Given the description of an element on the screen output the (x, y) to click on. 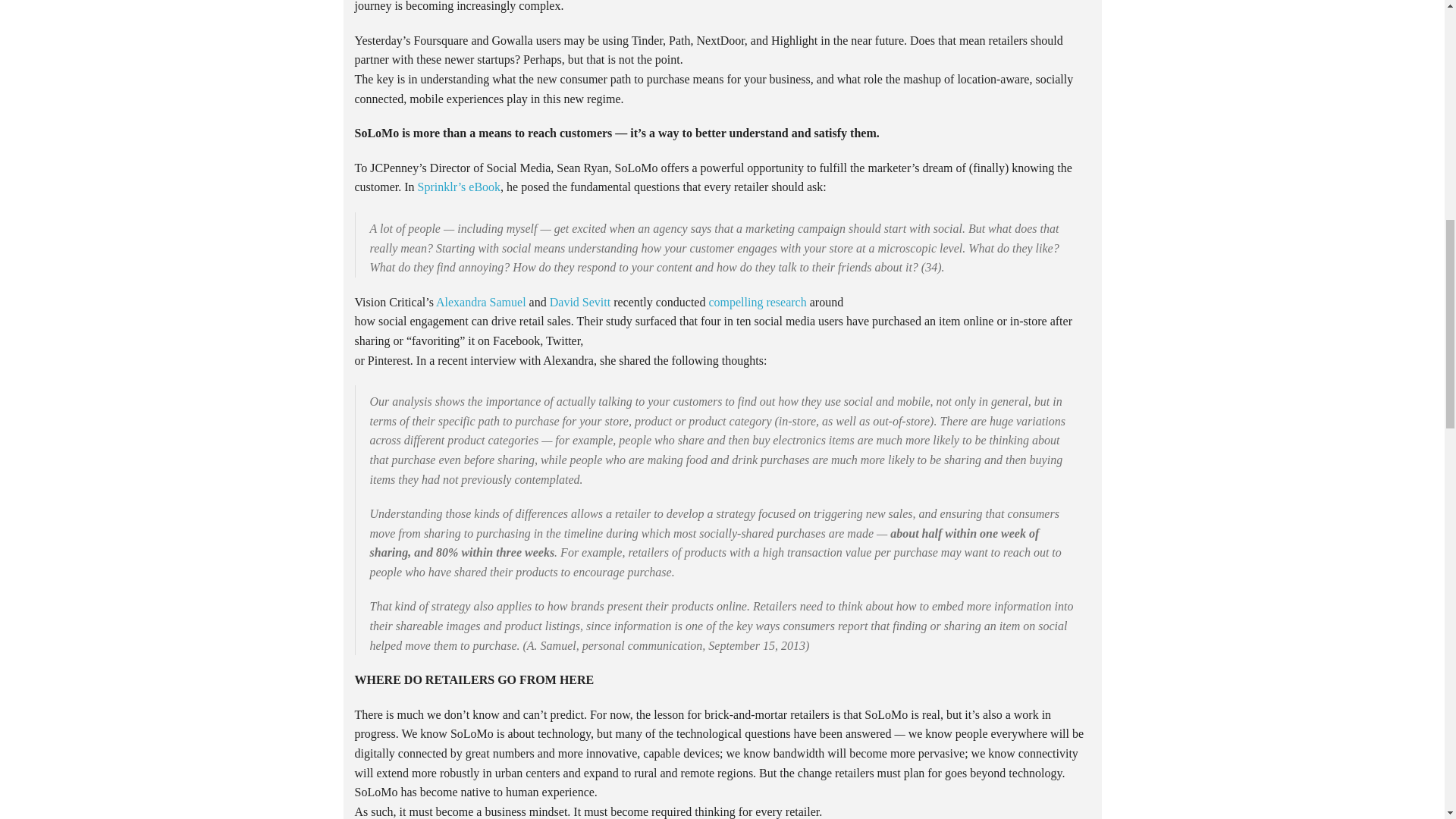
compelling research (756, 301)
David Sevitt (580, 301)
Alexandra Samuel (480, 301)
